Given the description of an element on the screen output the (x, y) to click on. 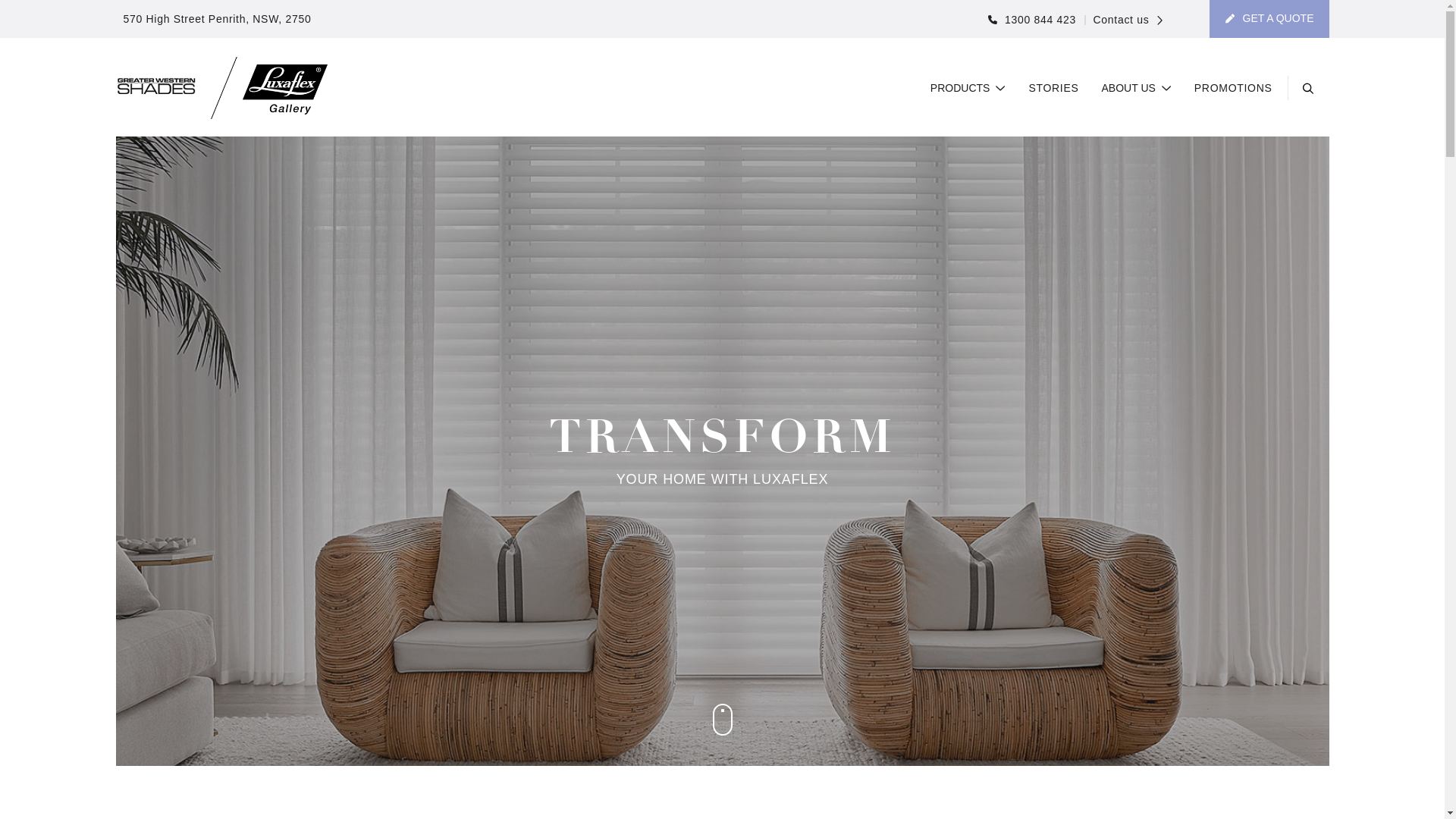
PRODUCTS Element type: text (968, 88)
PROMOTIONS Element type: text (1233, 88)
1300 844 423 Element type: text (1032, 20)
STORIES Element type: text (1053, 88)
GET A QUOTE Element type: text (1269, 18)
ABOUT US Element type: text (1136, 88)
Contact us Element type: text (1123, 20)
Scroll to content Element type: text (722, 719)
